Given the description of an element on the screen output the (x, y) to click on. 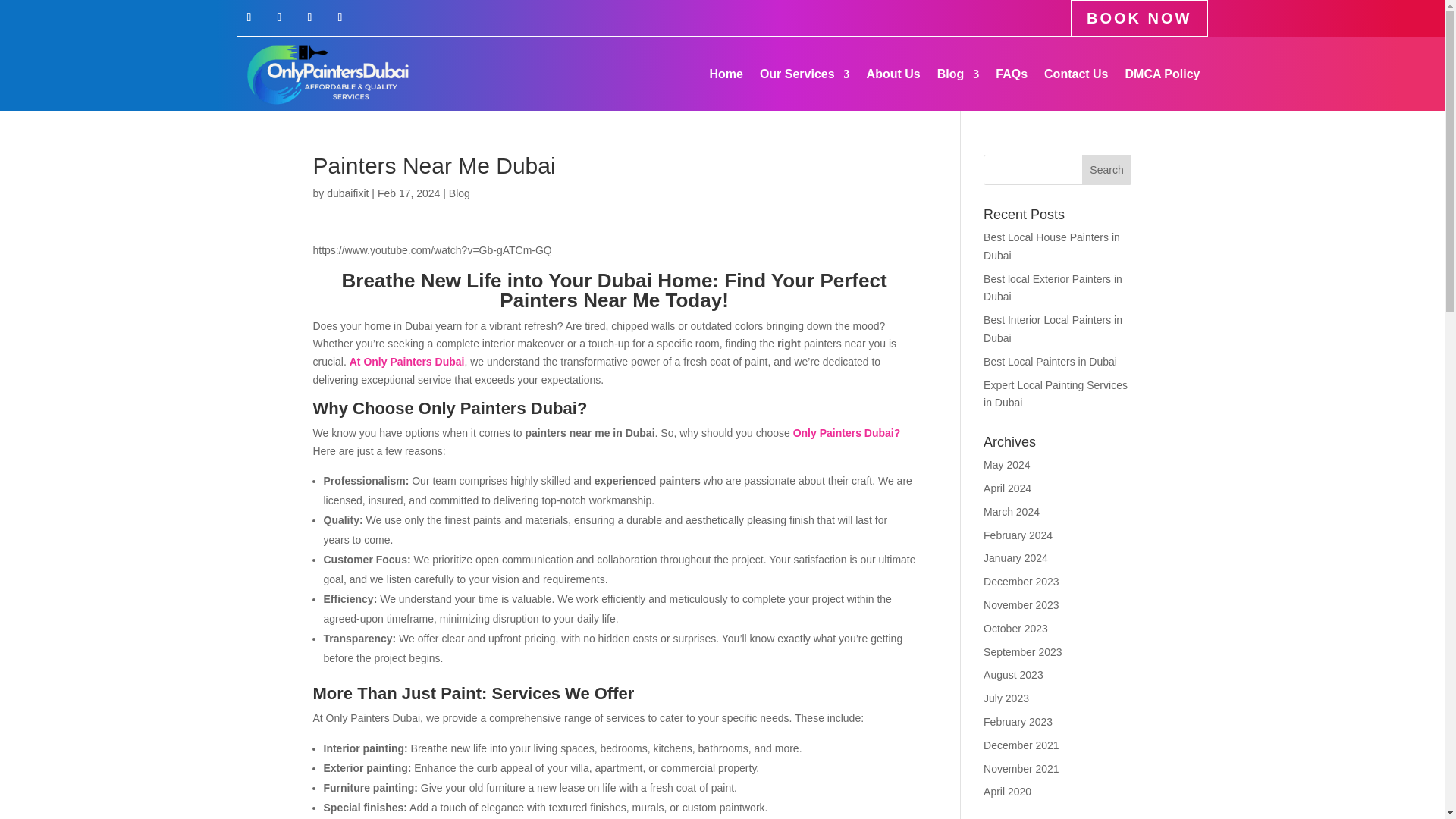
April 2024 (1007, 488)
Search (1106, 169)
Best Interior Local Painters in Dubai (1053, 328)
Best Local House Painters in Dubai (1051, 245)
February 2024 (1018, 535)
Posts by dubaifixit (347, 193)
Follow on TikTok (339, 16)
Best Local Painters in Dubai (1050, 361)
Our Services (805, 74)
Follow on Facebook (247, 16)
Blog (958, 74)
Home (725, 74)
dubaifixit (347, 193)
Best local Exterior Painters in Dubai (1053, 287)
Only Painters Dubai? (847, 432)
